Given the description of an element on the screen output the (x, y) to click on. 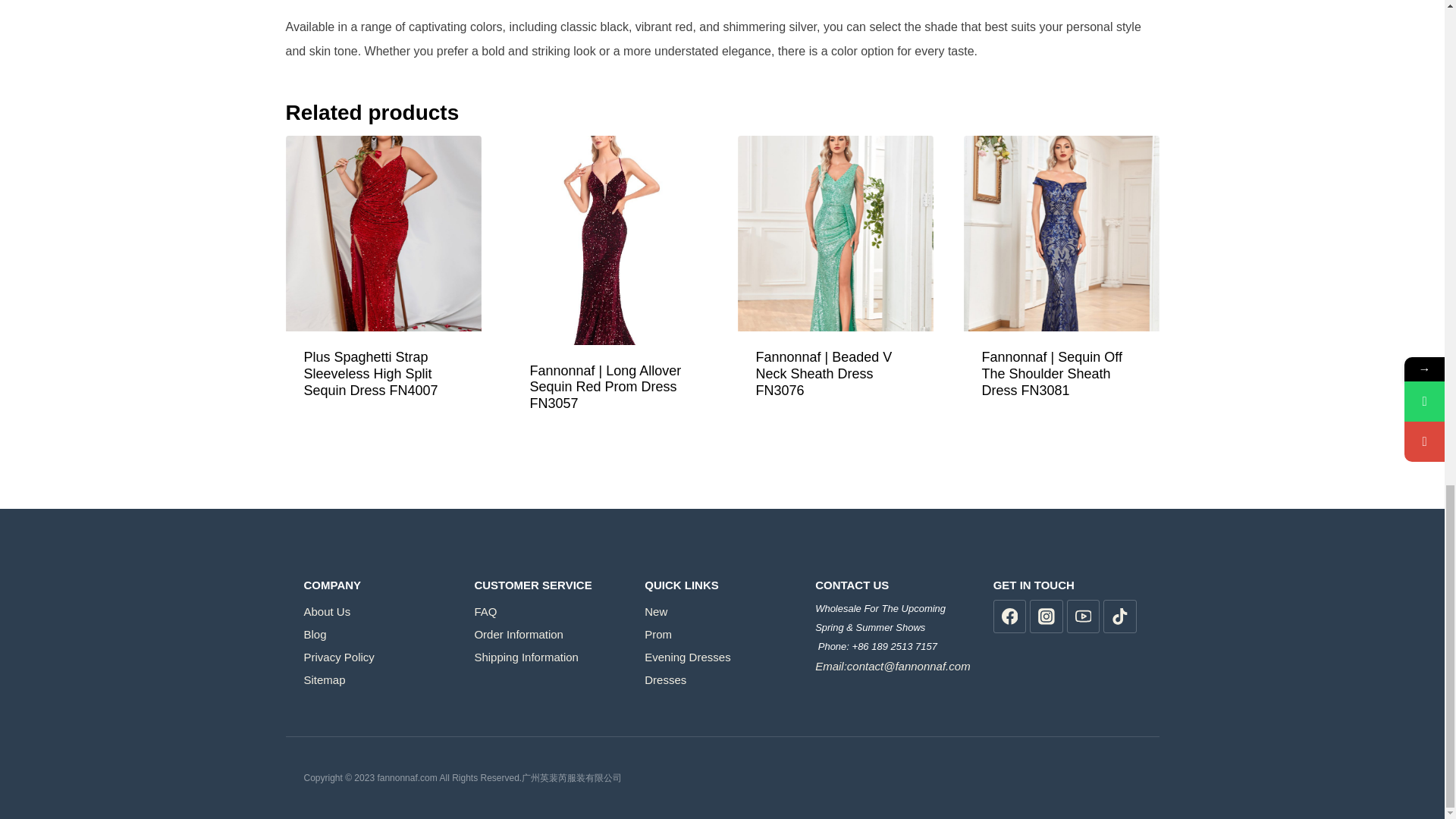
Shift-click to edit this element. (893, 627)
f1c3df9095ca8ef3907e437908d2610a.jpg (382, 233)
AD5I6052.jpg (1060, 233)
AD5I4587.jpg (834, 233)
AD5I0739.jpg (608, 239)
